Given the description of an element on the screen output the (x, y) to click on. 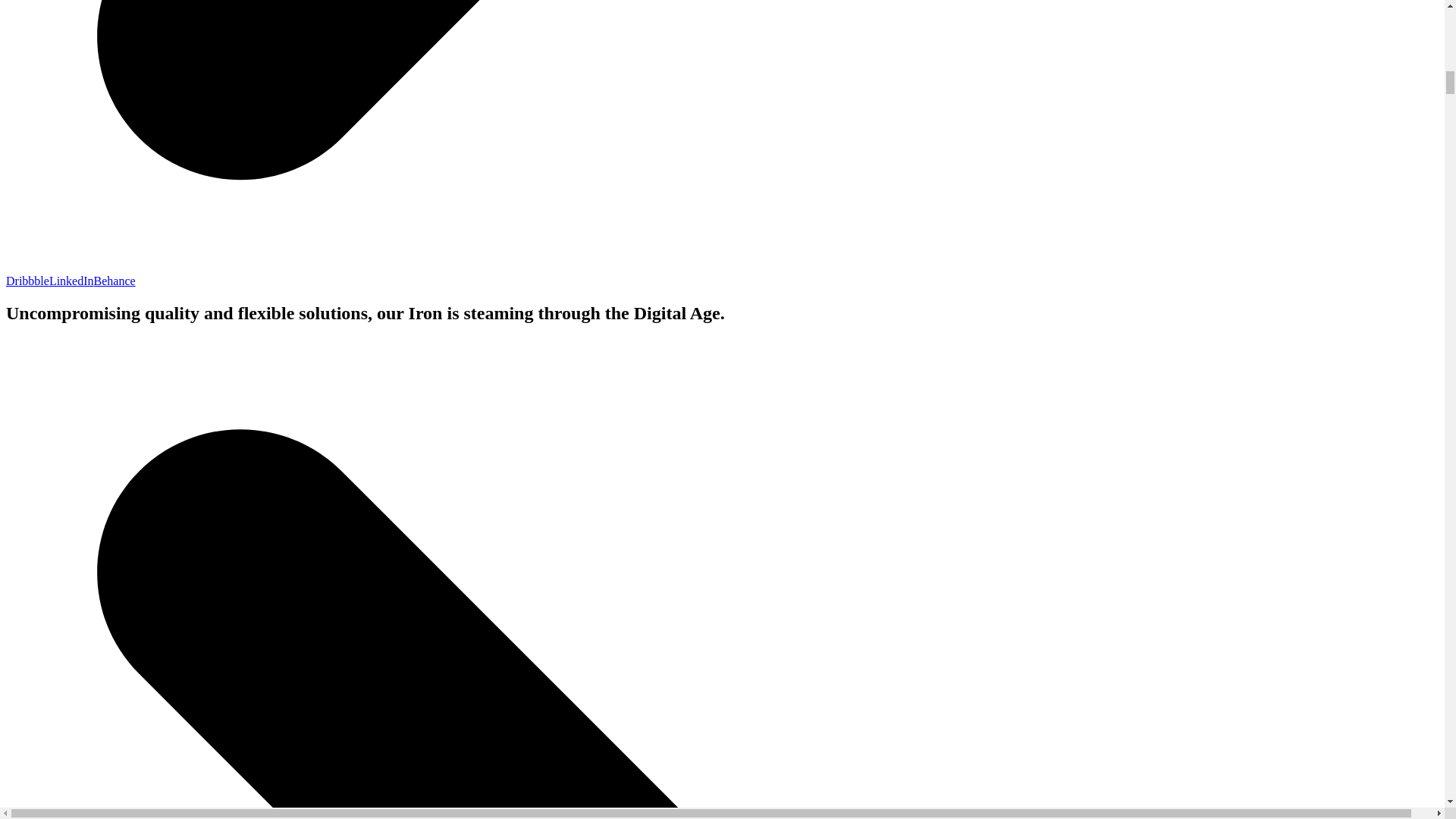
LinkedIn (71, 280)
Dribbble (27, 280)
Behance (114, 280)
